Given the description of an element on the screen output the (x, y) to click on. 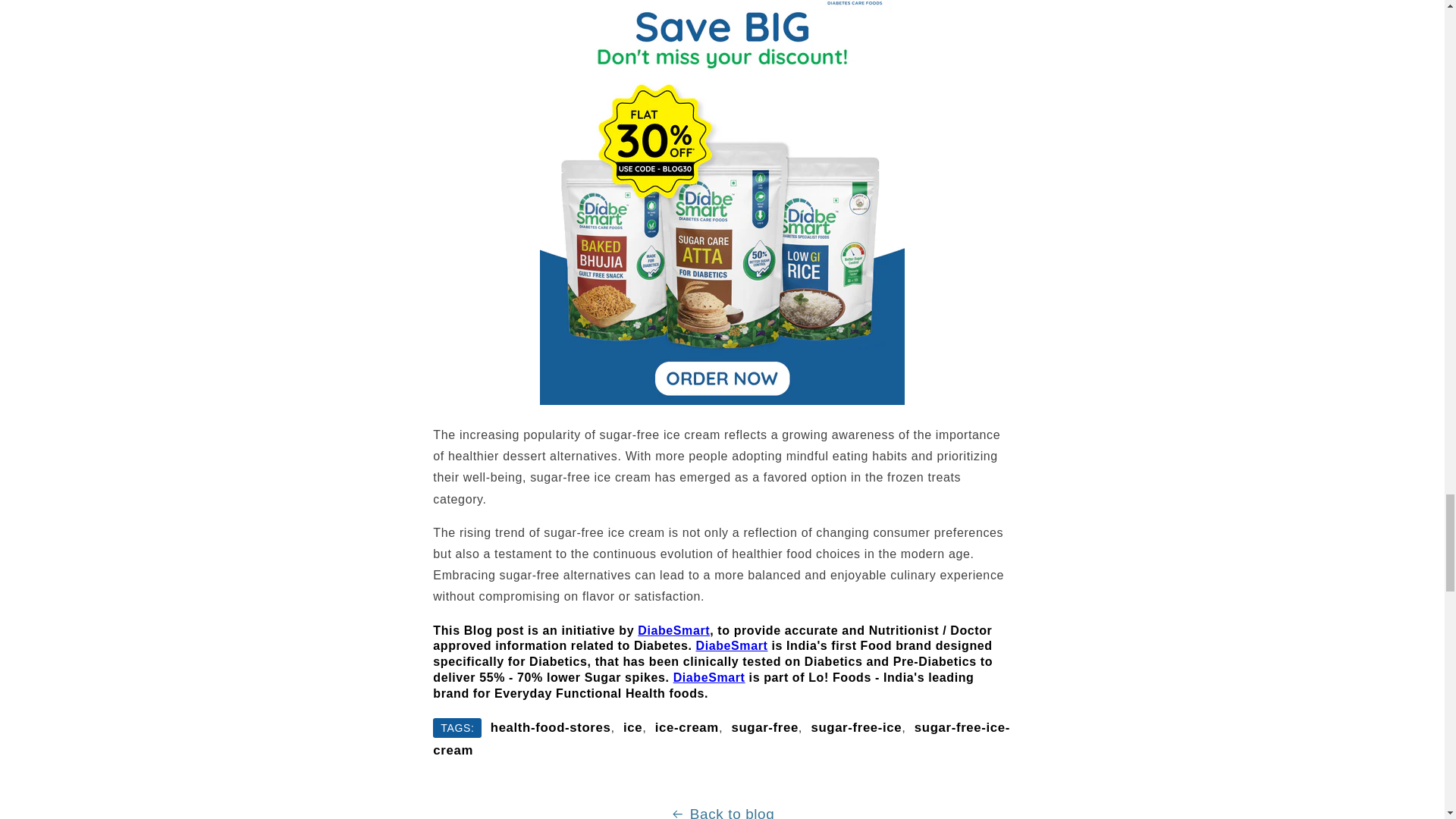
Show articles tagged health-food-stores (550, 727)
Show articles tagged sugar-free-ice (855, 727)
Show articles tagged ice (632, 727)
Show articles tagged sugar-free-ice-cream (721, 738)
Show articles tagged ice-cream (687, 727)
Show articles tagged sugar-free (763, 727)
